Given the description of an element on the screen output the (x, y) to click on. 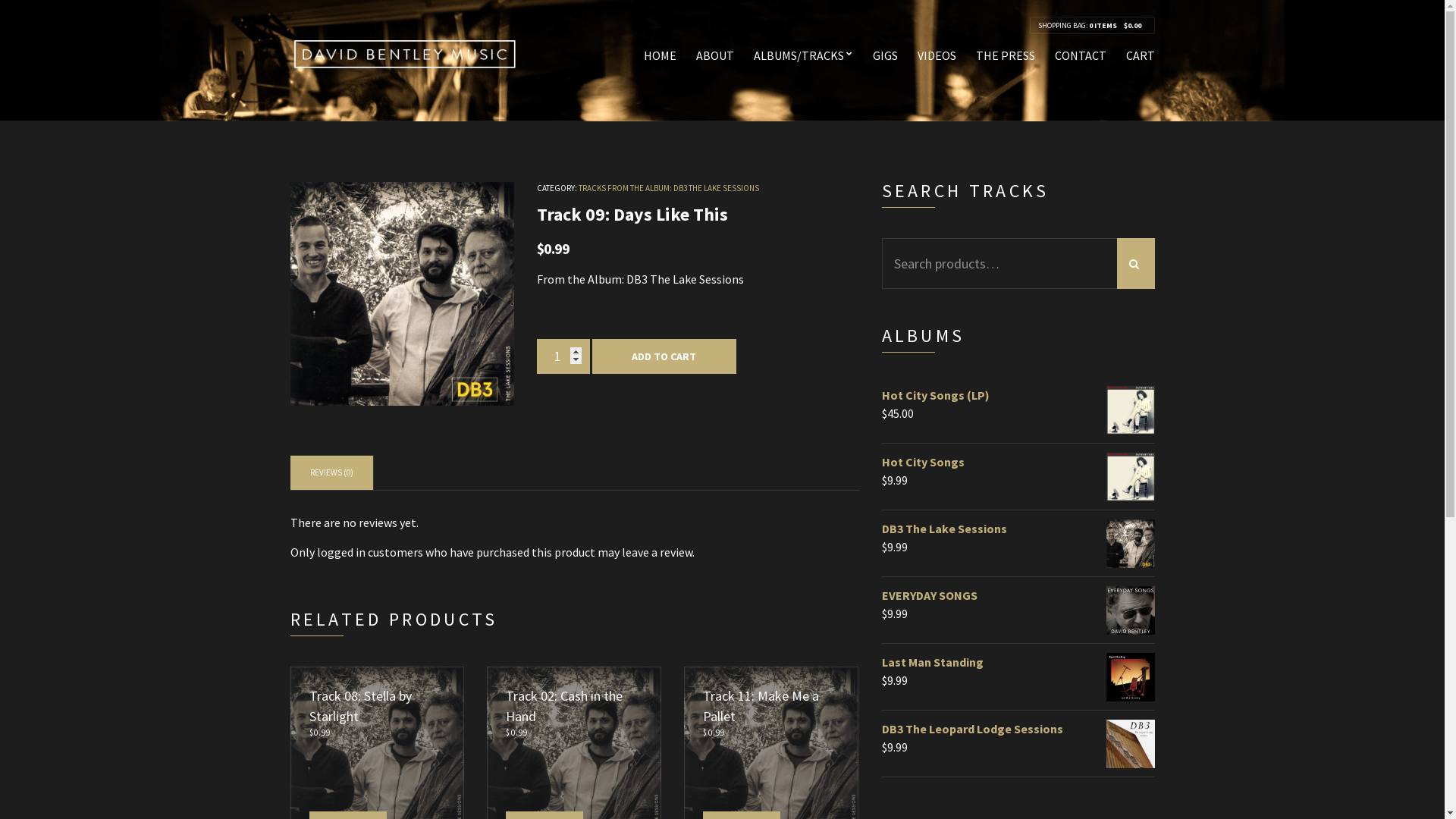
ABOUT Element type: text (715, 56)
HOME Element type: text (659, 56)
Hot City Songs Element type: text (1017, 461)
THE PRESS Element type: text (1004, 56)
GIGS Element type: text (884, 56)
REVIEWS (0) Element type: text (331, 472)
Hot City Songs (LP) Element type: text (1017, 394)
0 ITEMS $0.00 Element type: text (1117, 25)
CONTACT Element type: text (1079, 56)
VIDEOS Element type: text (936, 56)
CART Element type: text (1139, 56)
Qty Element type: hover (562, 355)
DB3-The-Lake-Sessions-Album-Cover Element type: hover (401, 293)
ADD TO CART Element type: text (663, 355)
DB3 The Lake Sessions Element type: text (1017, 528)
DB3 The Leopard Lodge Sessions Element type: text (1017, 728)
Last Man Standing Element type: text (1017, 661)
ALBUMS/TRACKS Element type: text (803, 56)
SEARCH Element type: text (1135, 263)
EVERYDAY SONGS Element type: text (1017, 595)
TRACKS FROM THE ALBUM: DB3 THE LAKE SESSIONS Element type: text (667, 187)
